Given the description of an element on the screen output the (x, y) to click on. 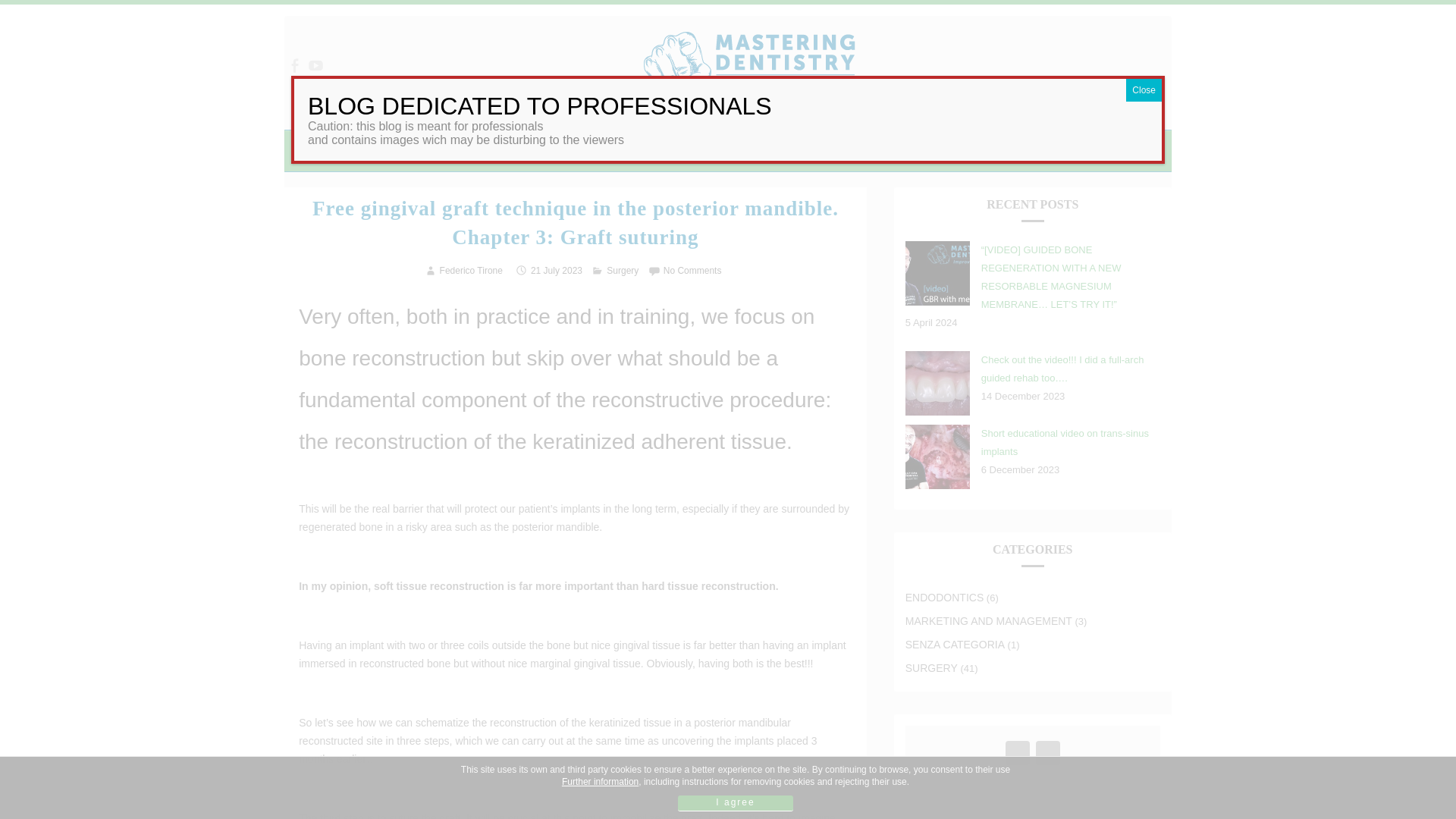
Mastering Dentistry on YouTube (315, 65)
SURGERY (931, 667)
Federico Tirone (470, 270)
SENZA CATEGORIA (954, 644)
21 July 2023 (556, 270)
Facebook (1017, 755)
Facebook (1017, 755)
FORMAZIONE ODONTOIATRICA (947, 150)
ABOUT US (467, 150)
Surgery (623, 270)
COOKIE POLICY (619, 150)
ON-LINE COURSES (1022, 150)
HOME (405, 150)
Short educational video on trans-sinus implants (1064, 442)
YouTube Channel (1047, 755)
